Given the description of an element on the screen output the (x, y) to click on. 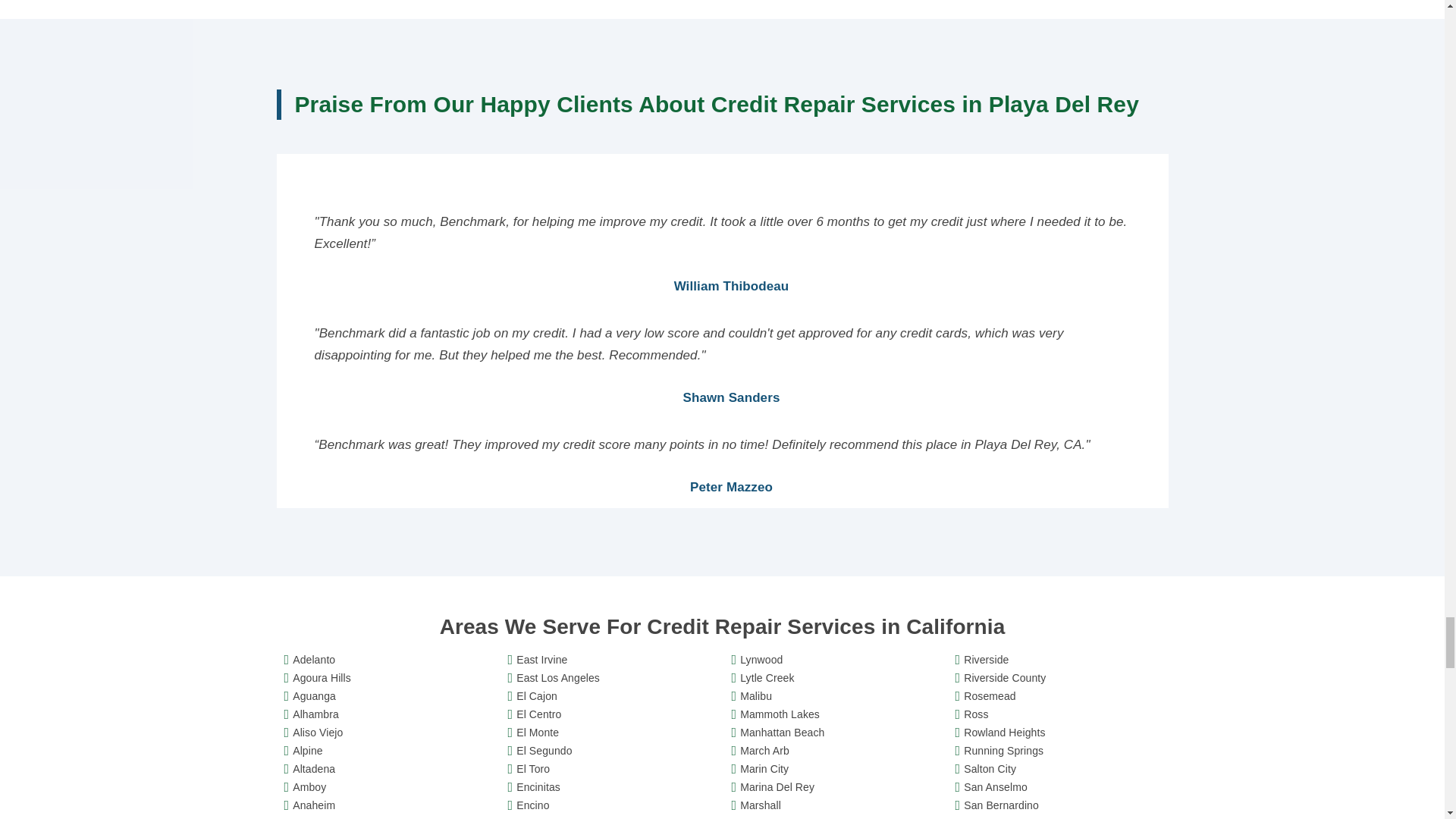
Alpine (389, 751)
Anaheim (389, 805)
Angelus Oaks (389, 816)
Aliso Viejo (389, 732)
Alhambra (389, 714)
Amboy (389, 787)
Agoura Hills (389, 678)
Adelanto (389, 659)
Altadena (389, 769)
Aguanga (389, 696)
